Given the description of an element on the screen output the (x, y) to click on. 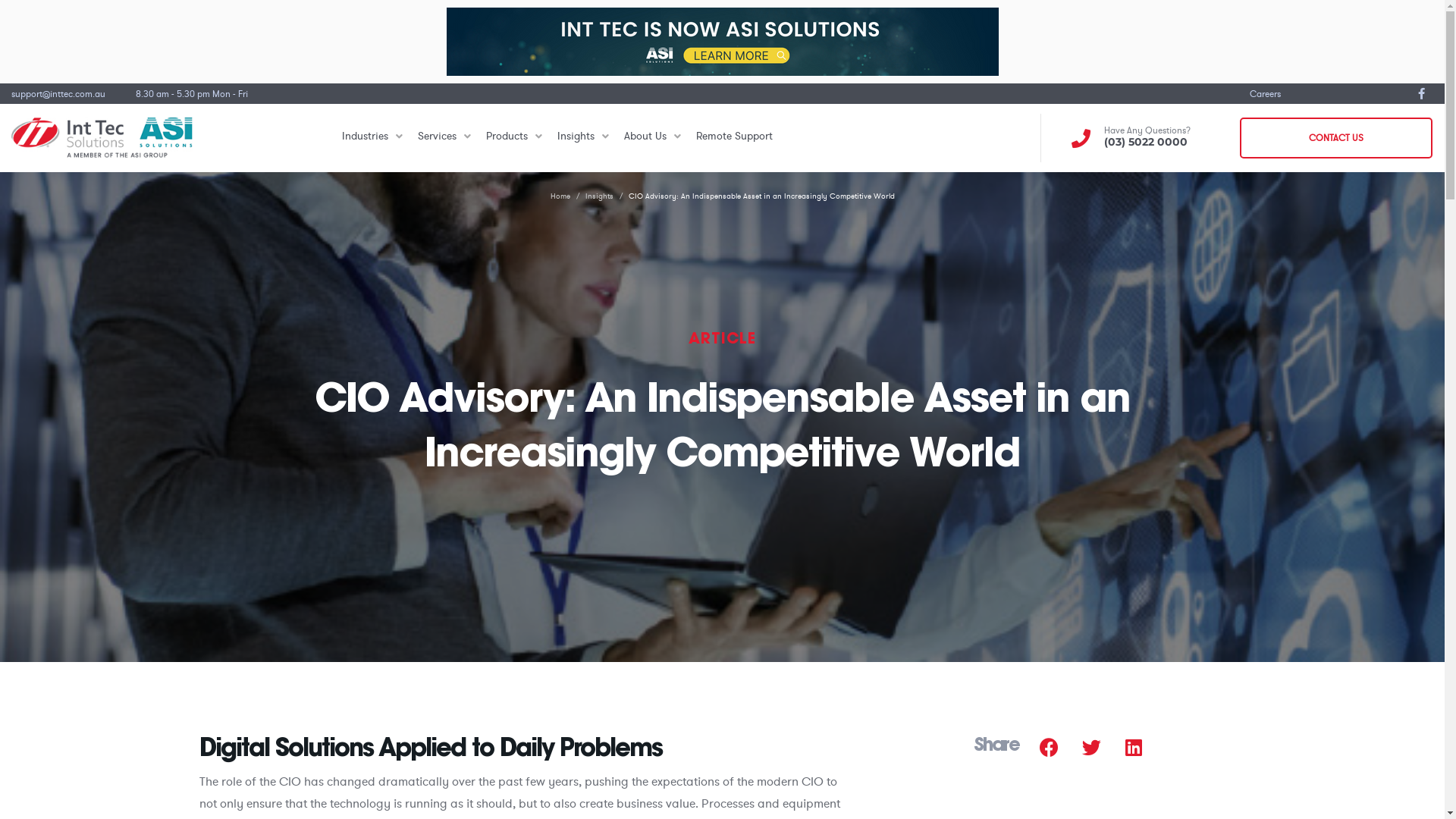
Remote Support Element type: text (734, 137)
Home Element type: text (560, 195)
(03) 5022 0000 Element type: text (1145, 141)
Insights Element type: text (599, 195)
Products Element type: text (514, 137)
Industries Element type: text (372, 137)
CONTACT US Element type: text (1335, 137)
Services Element type: text (443, 137)
Insights Element type: text (582, 137)
Careers Element type: text (1264, 92)
About Us Element type: text (652, 137)
